Given the description of an element on the screen output the (x, y) to click on. 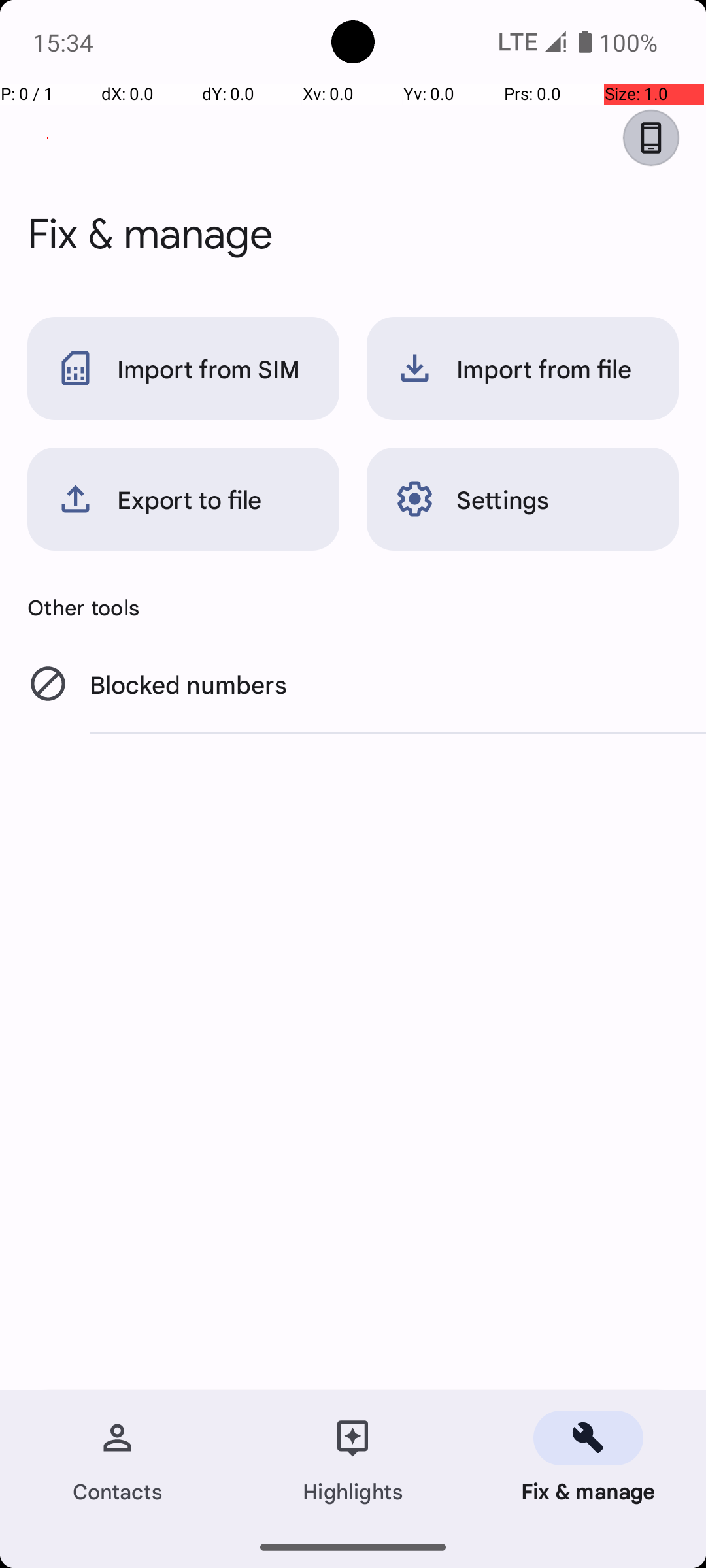
Other tools Element type: android.widget.TextView (353, 606)
Import from SIM Element type: android.widget.TextView (183, 368)
Import from file Element type: android.widget.TextView (522, 368)
Export to file Element type: android.widget.TextView (183, 498)
